Given the description of an element on the screen output the (x, y) to click on. 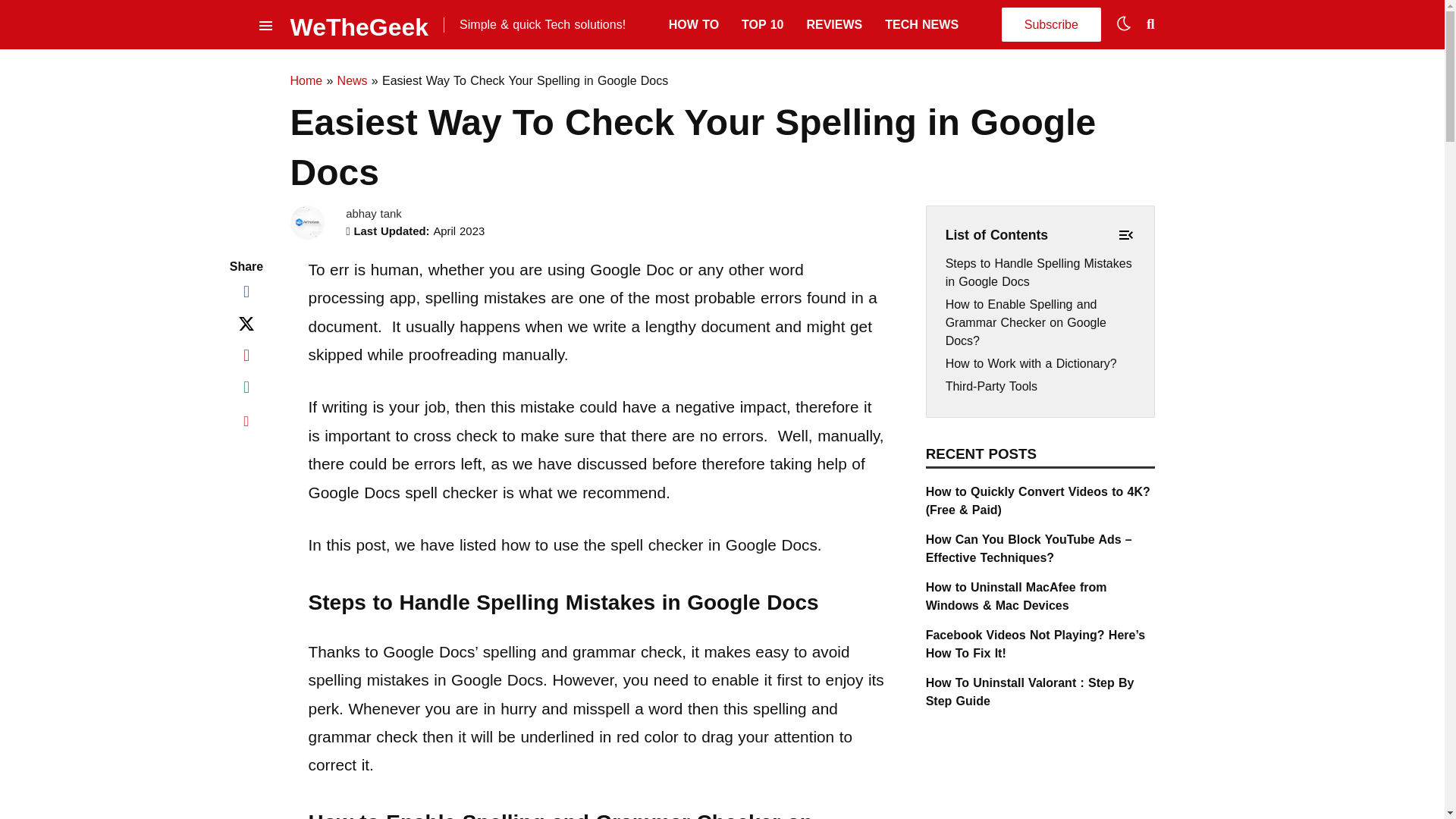
abhay tank (373, 214)
REVIEWS (833, 24)
TECH NEWS (921, 24)
TOP 10 (762, 24)
News (352, 80)
Home (305, 80)
WeTheGeek (358, 24)
HOW TO (693, 24)
